Given the description of an element on the screen output the (x, y) to click on. 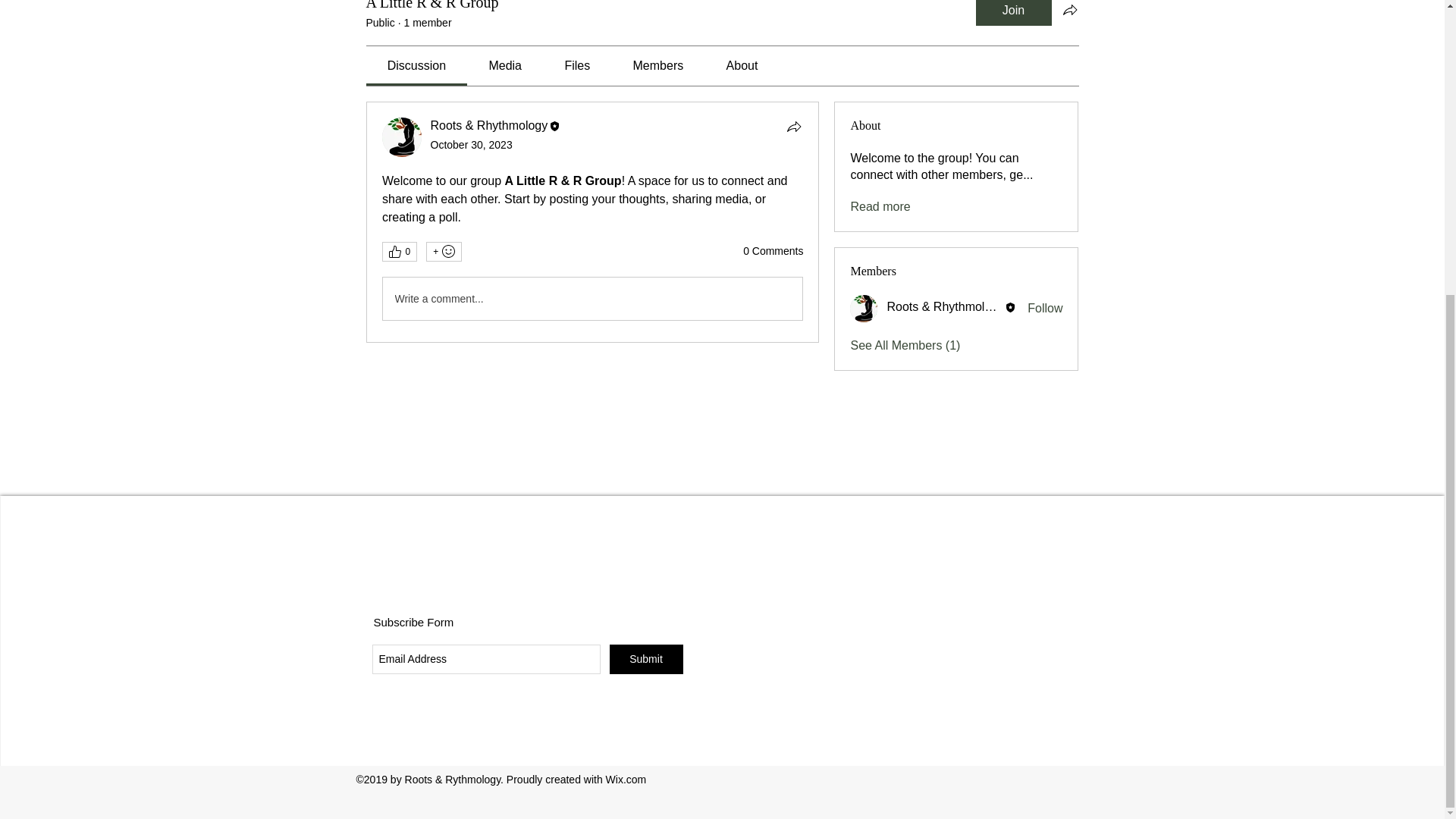
October 30, 2023 (471, 144)
0 Comments (772, 251)
Read more (880, 207)
Follow (1044, 308)
Join (1013, 12)
Write a comment... (591, 298)
